Given the description of an element on the screen output the (x, y) to click on. 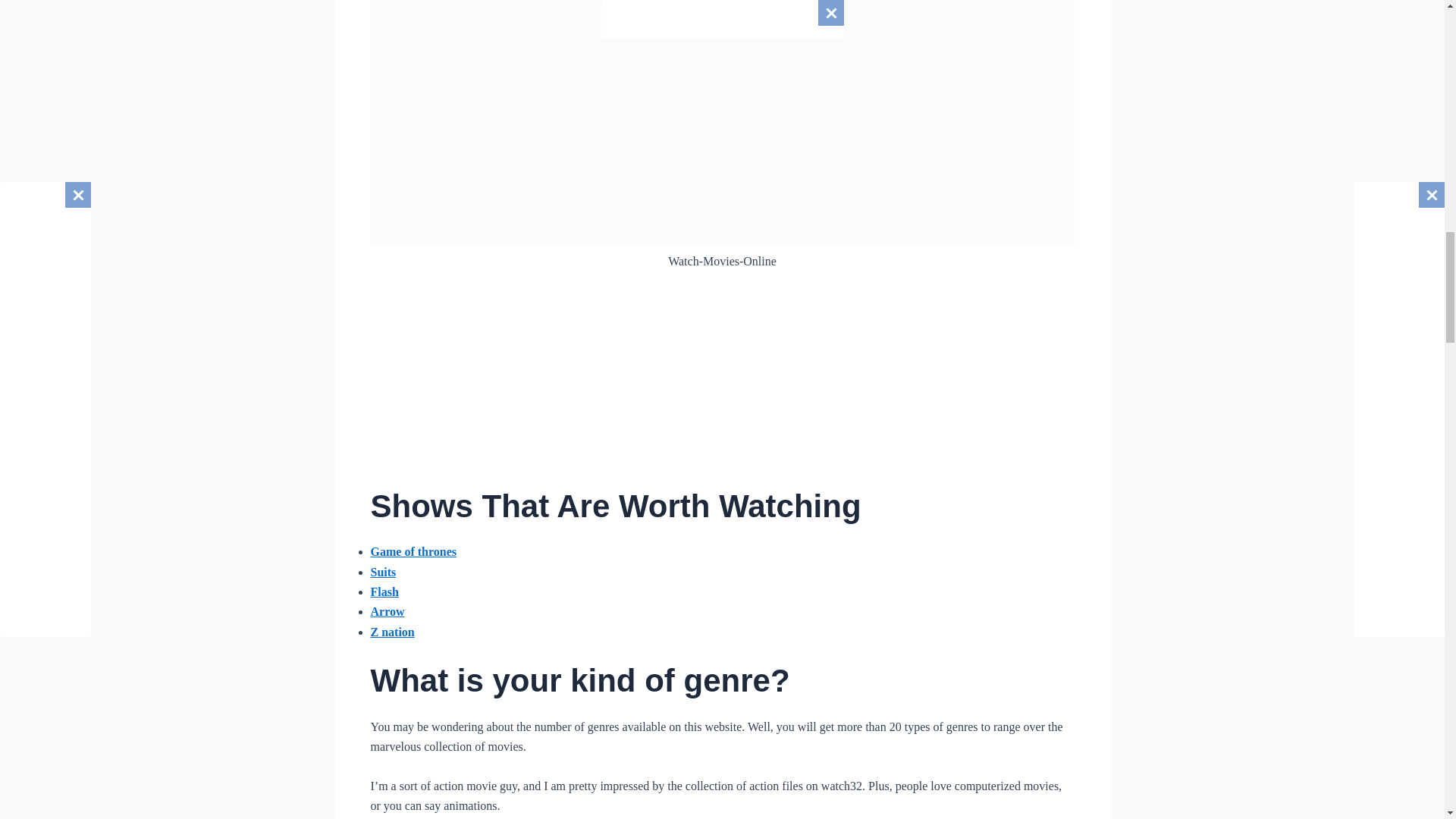
Z nation (391, 631)
Arrow (386, 611)
Suits (382, 571)
Game of thrones (412, 551)
Flash (383, 591)
